Given the description of an element on the screen output the (x, y) to click on. 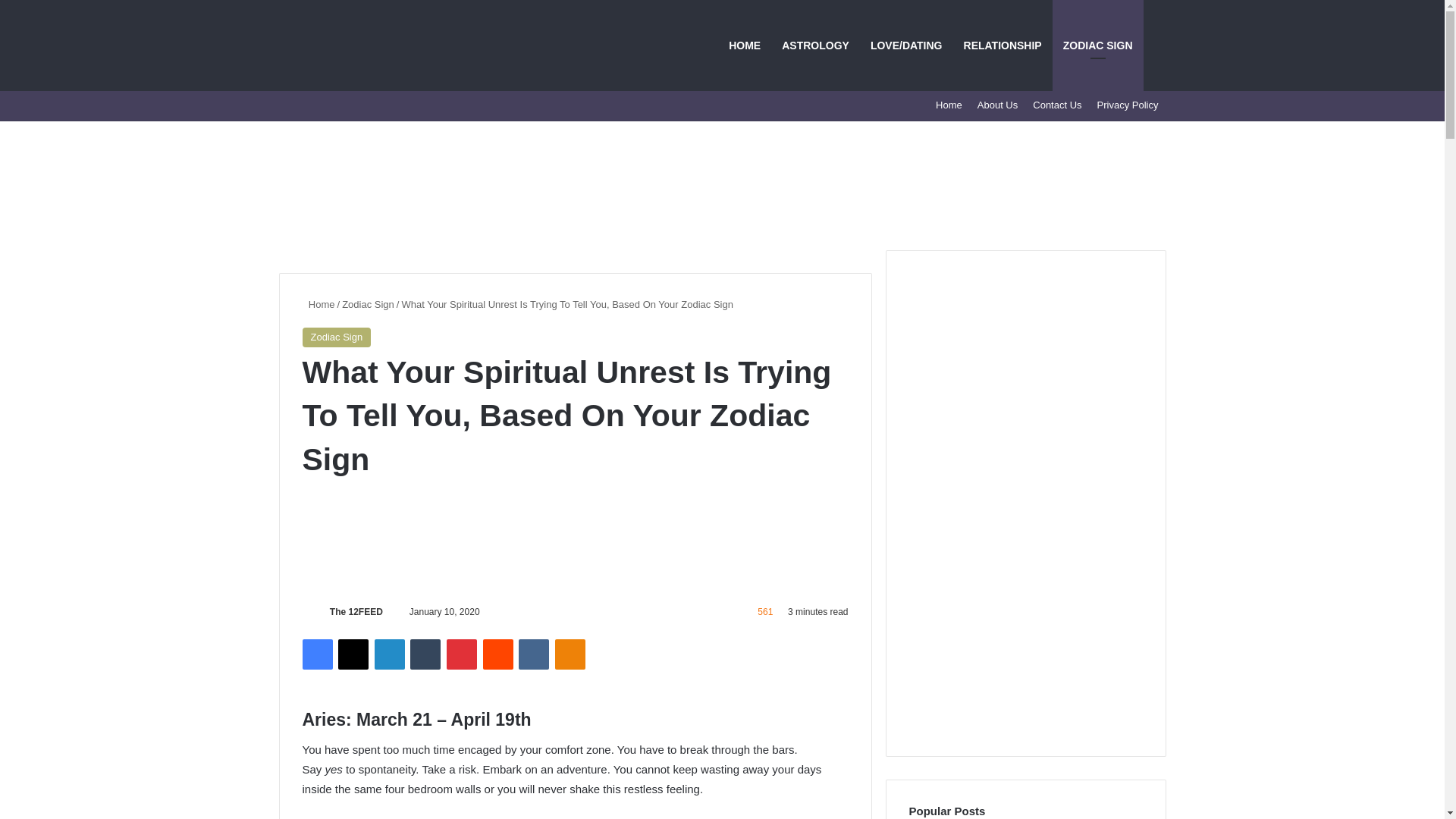
X (352, 653)
Contact Us (1057, 105)
Odnoklassniki (569, 653)
About Us (997, 105)
VKontakte (533, 653)
The 12FEED (356, 611)
Home (317, 304)
Pinterest (461, 653)
Tumblr (425, 653)
Reddit (498, 653)
